Given the description of an element on the screen output the (x, y) to click on. 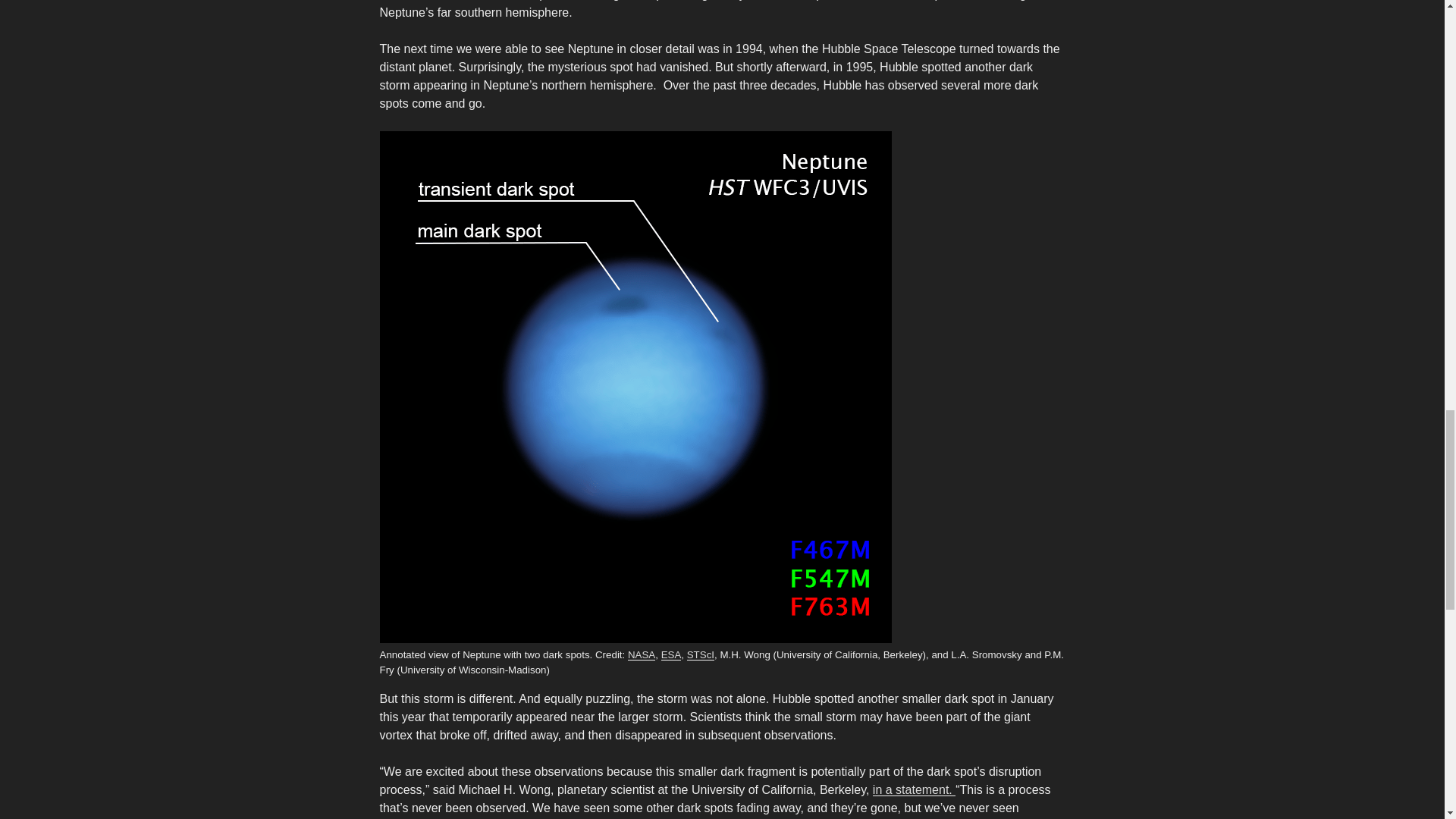
in a statement. (913, 789)
ESA (671, 654)
STScI (700, 654)
NASA (641, 654)
